Given the description of an element on the screen output the (x, y) to click on. 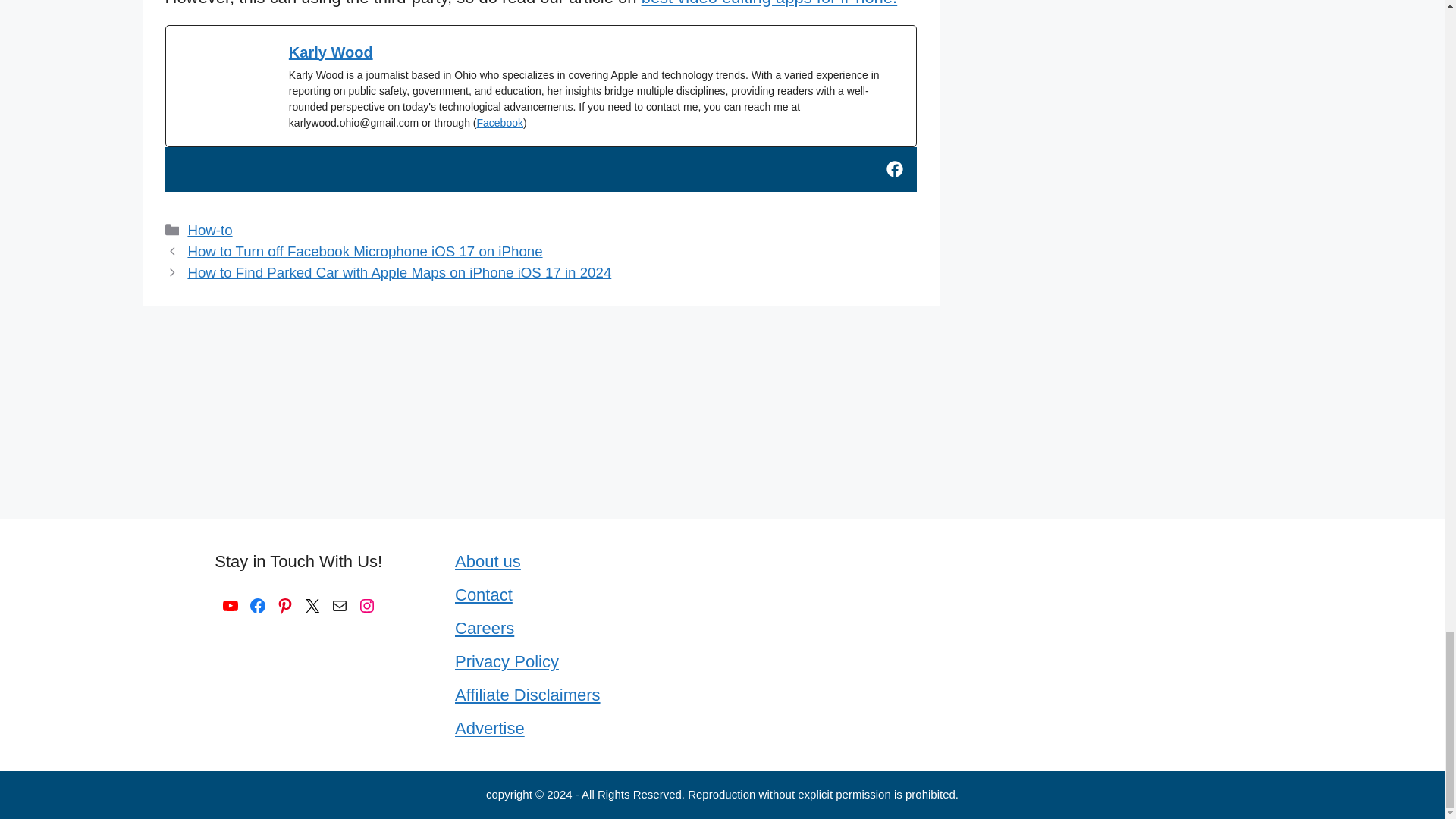
Karly Wood (330, 52)
Facebook (499, 122)
Facebook (257, 606)
best video editing apps for iPhone. (770, 3)
How-to (209, 229)
How to Turn off Facebook Microphone iOS 17 on iPhone (364, 251)
YouTube (230, 606)
